Given the description of an element on the screen output the (x, y) to click on. 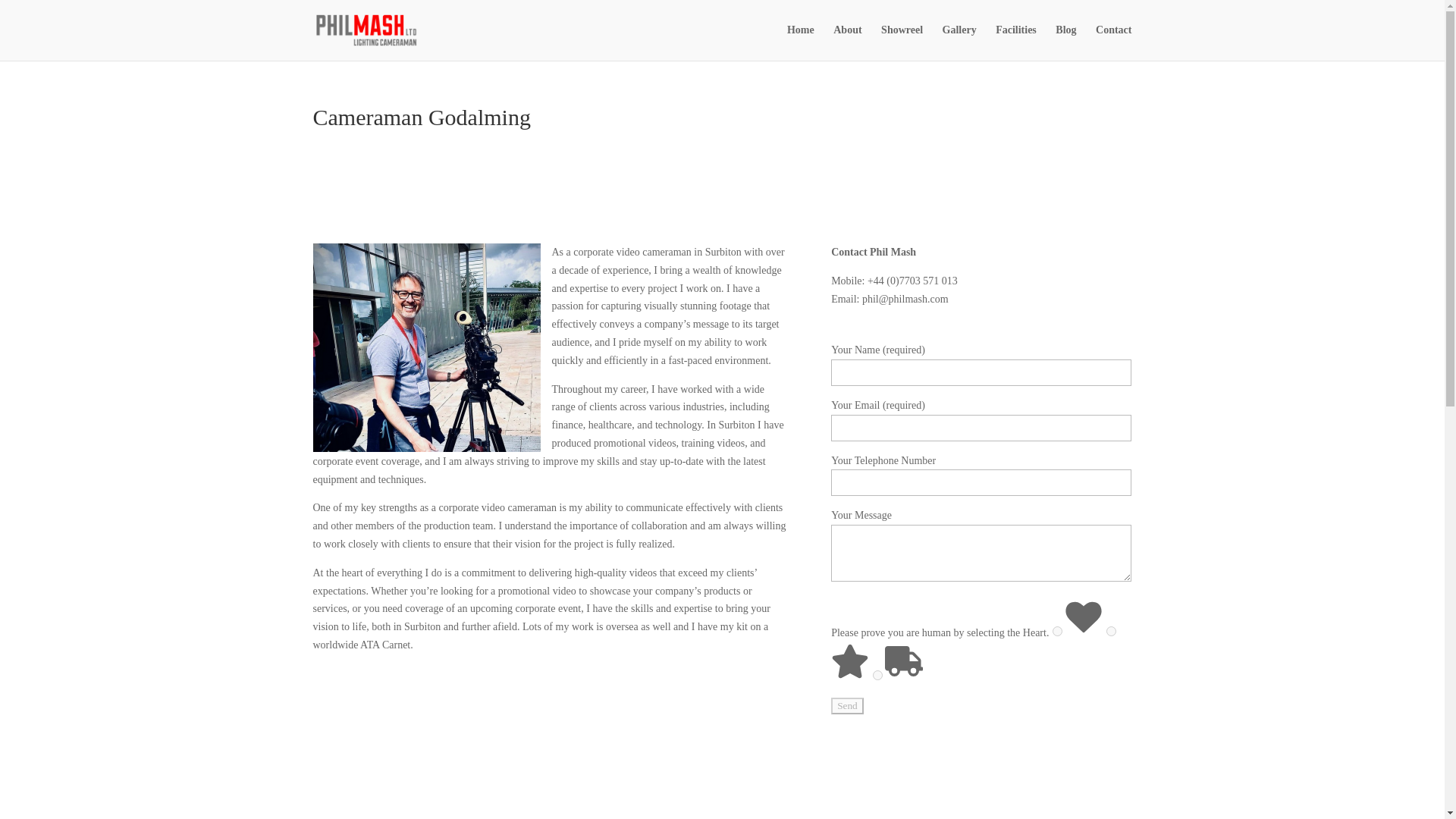
Facilities (1015, 42)
Showreel (901, 42)
bot (877, 675)
Gallery (959, 42)
Send (847, 705)
bot (1111, 631)
Contact (1113, 42)
Send (847, 705)
